Given the description of an element on the screen output the (x, y) to click on. 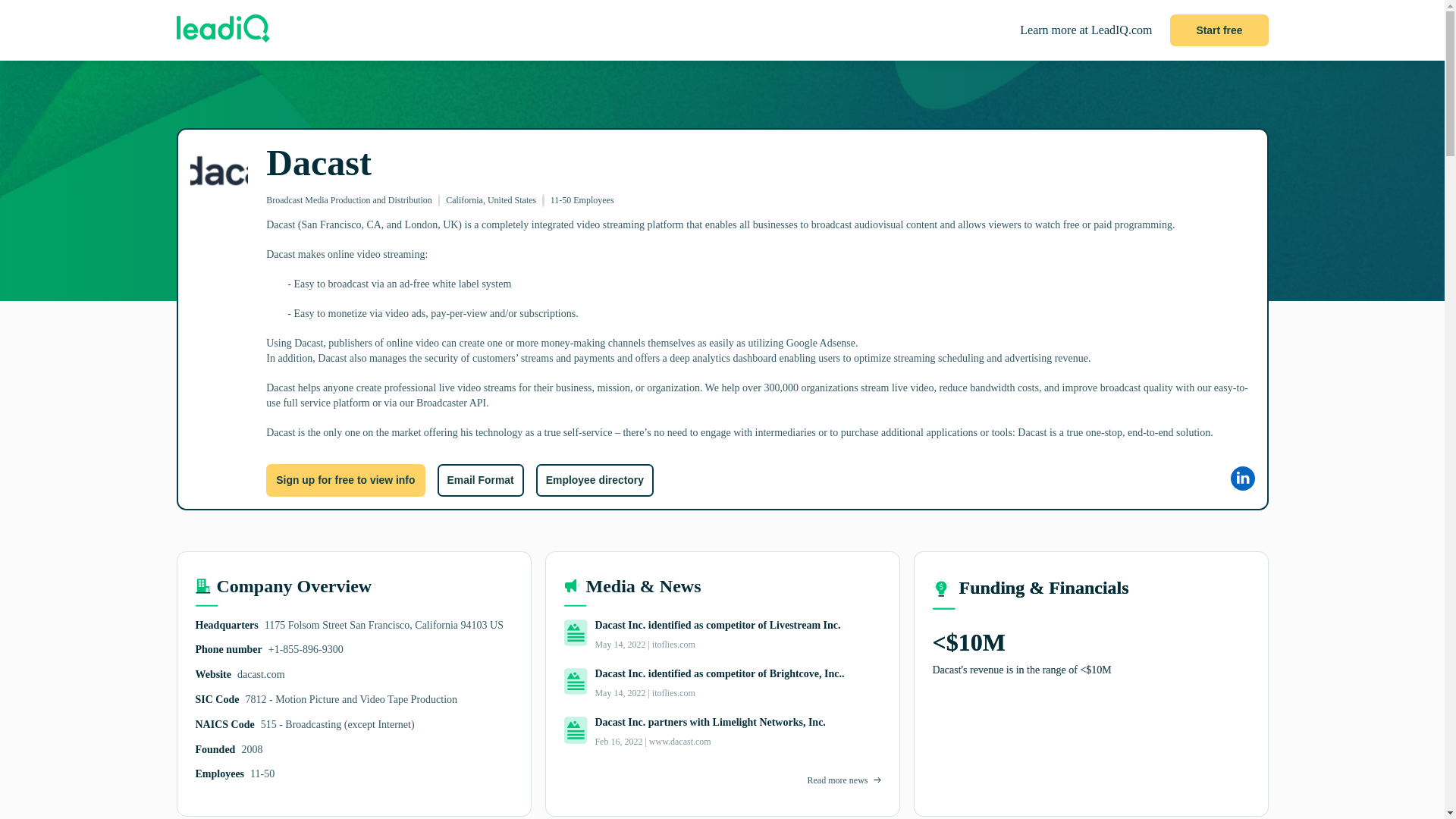
Start free (1219, 29)
Learn more at LeadIQ.com (1085, 29)
Email Format (479, 480)
Sign up for free to view info (345, 480)
